Given the description of an element on the screen output the (x, y) to click on. 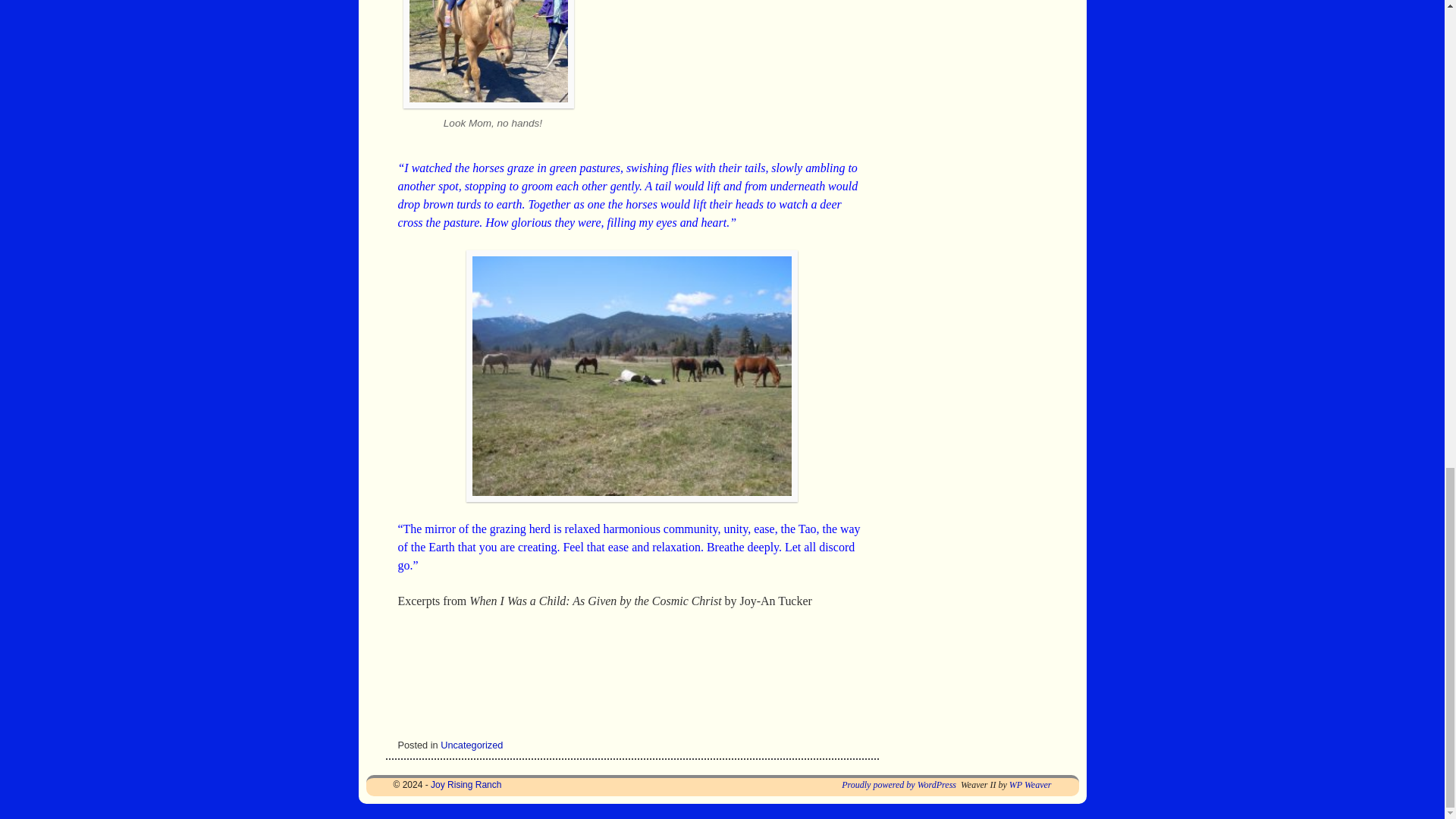
wordpress.org (898, 784)
Proudly powered by WordPress (898, 784)
Uncategorized (471, 745)
Joy Rising Ranch (465, 784)
WP Weaver (1030, 784)
Joy Rising Ranch (465, 784)
